Given the description of an element on the screen output the (x, y) to click on. 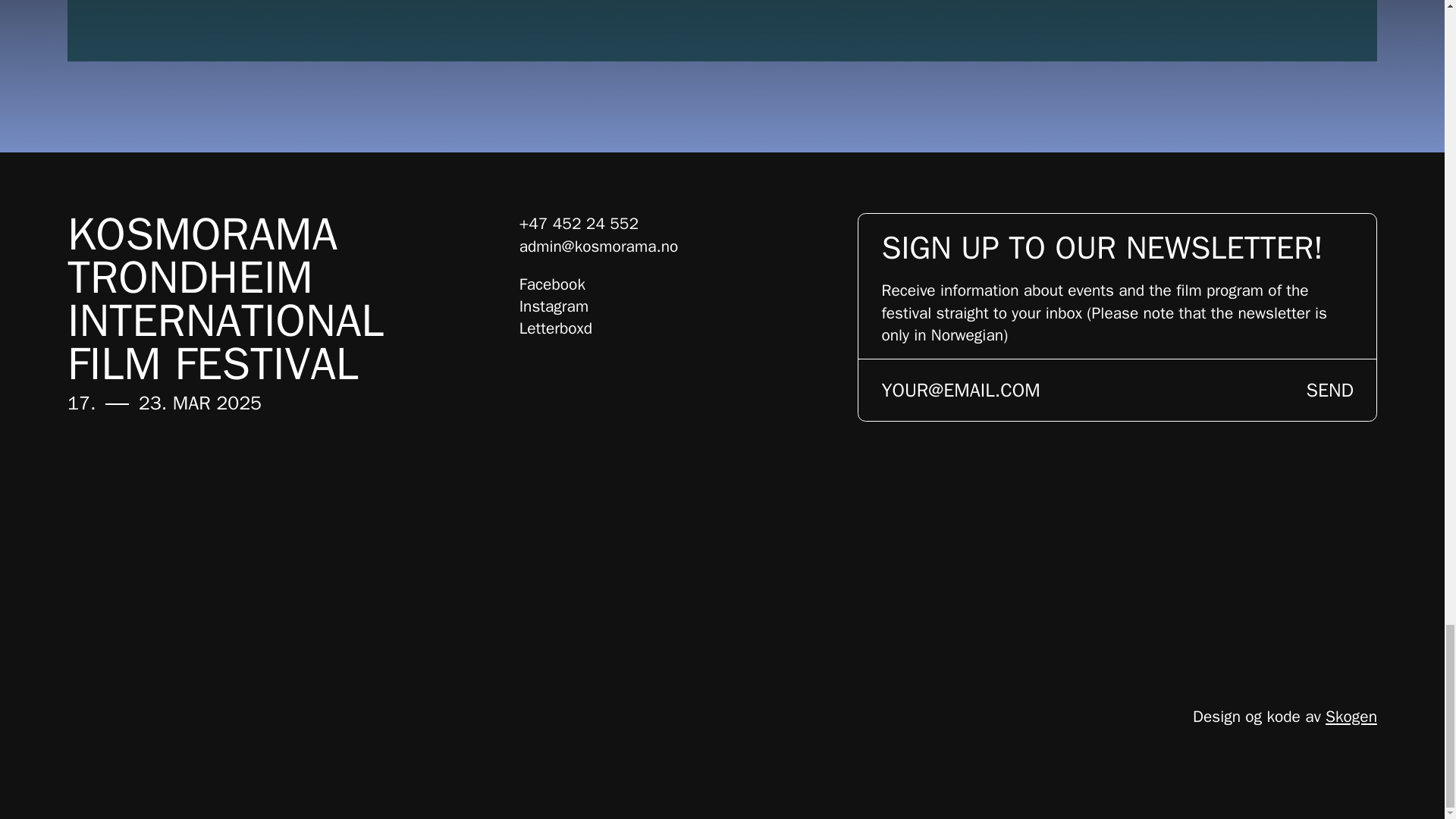
Instagram (553, 306)
Facebook (552, 284)
SEND (1329, 389)
Skogen (1350, 716)
Letterboxd (555, 328)
